Given the description of an element on the screen output the (x, y) to click on. 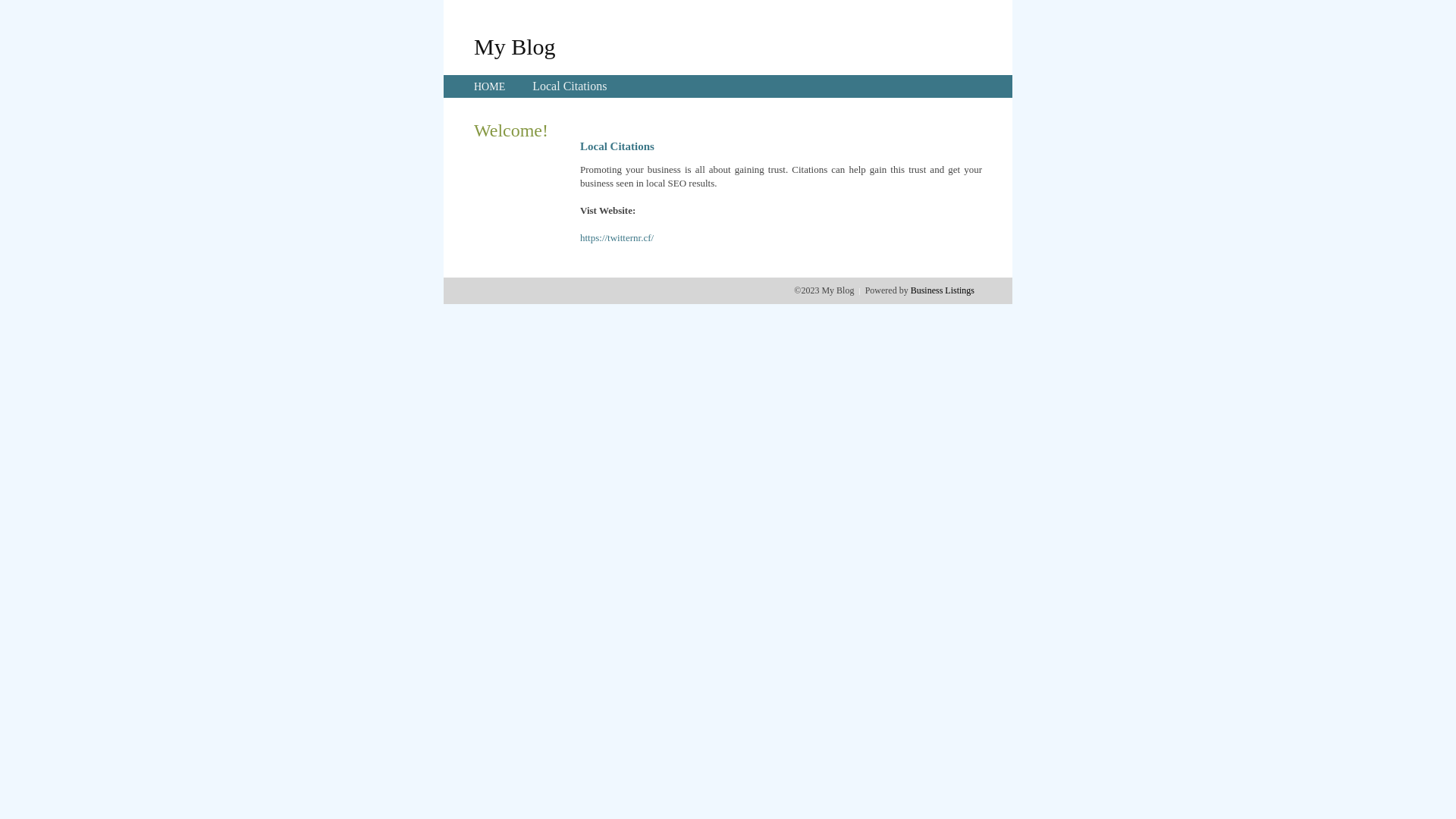
My Blog Element type: text (514, 46)
Local Citations Element type: text (569, 85)
https://twitternr.cf/ Element type: text (616, 237)
HOME Element type: text (489, 86)
Business Listings Element type: text (942, 290)
